Given the description of an element on the screen output the (x, y) to click on. 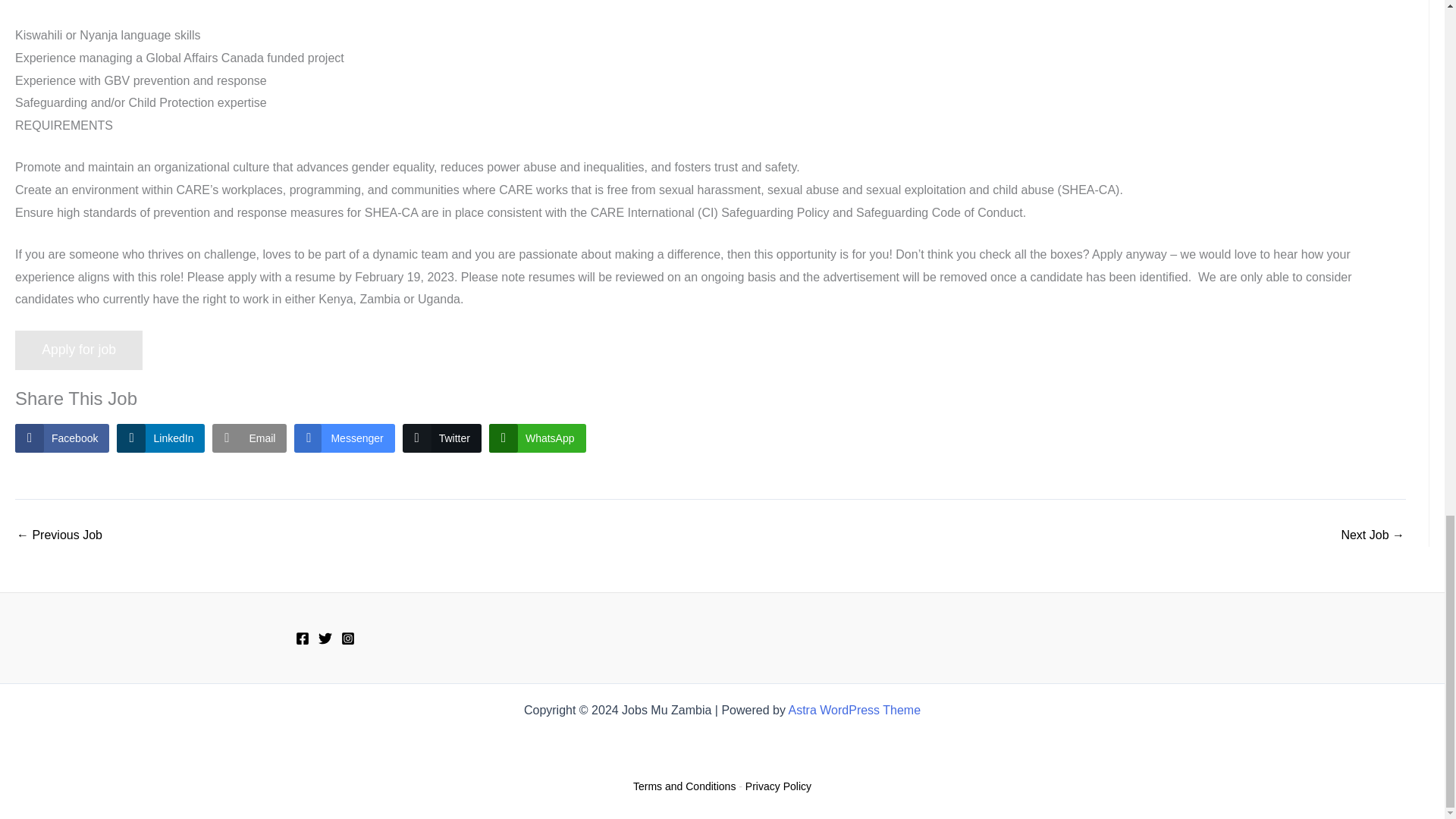
Facebook (61, 438)
Branch Manager (1372, 535)
Sales Manager (58, 535)
Email (249, 438)
Twitter (442, 438)
Terms and Conditions (684, 786)
Messenger (344, 438)
Astra WordPress Theme (853, 709)
Apply for job (78, 350)
WhatsApp (537, 438)
